Given the description of an element on the screen output the (x, y) to click on. 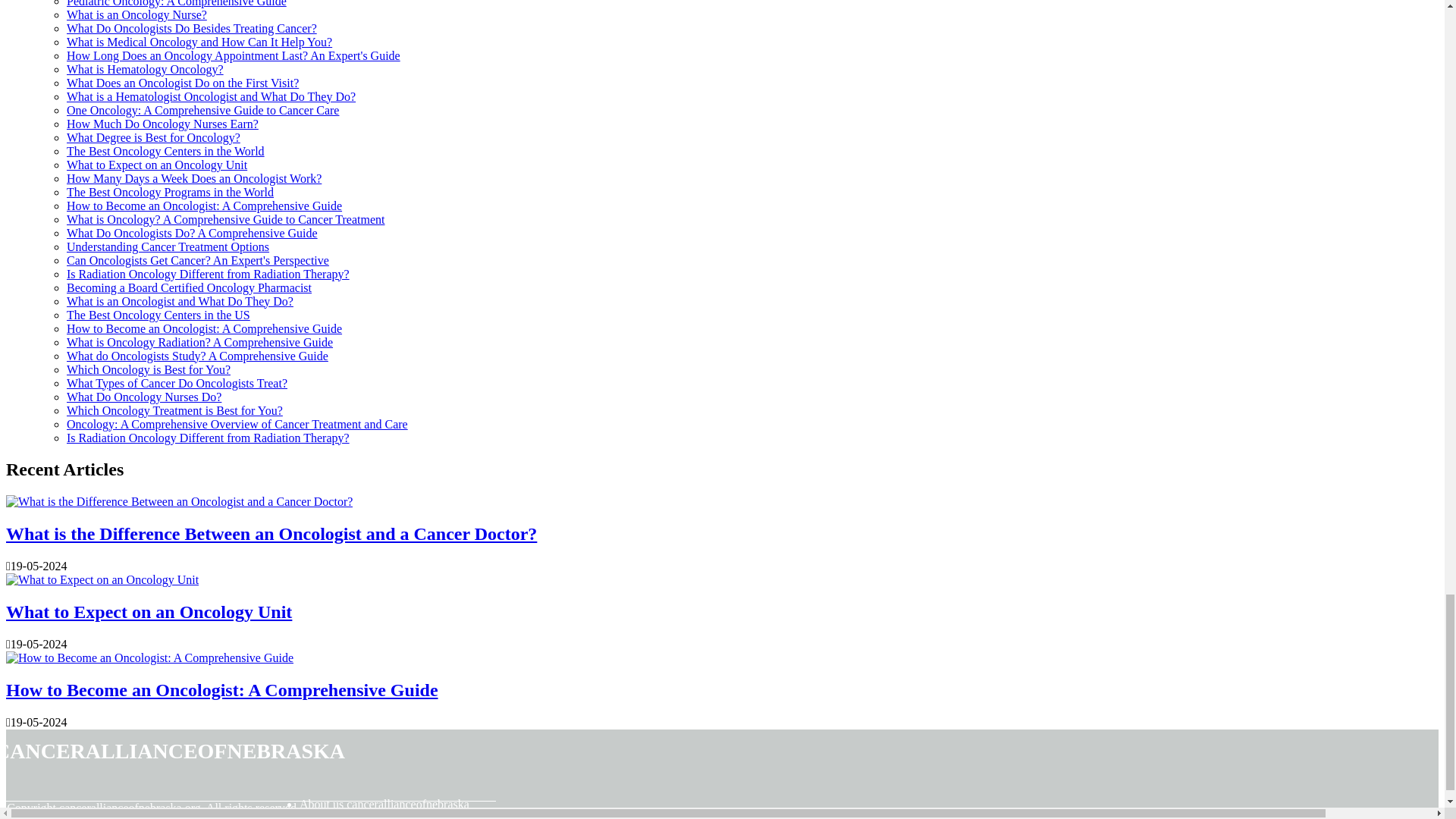
What is an Oncology Nurse? (136, 13)
Pediatric Oncology: A Comprehensive Guide (176, 3)
What Do Oncologists Do Besides Treating Cancer? (191, 27)
